Given the description of an element on the screen output the (x, y) to click on. 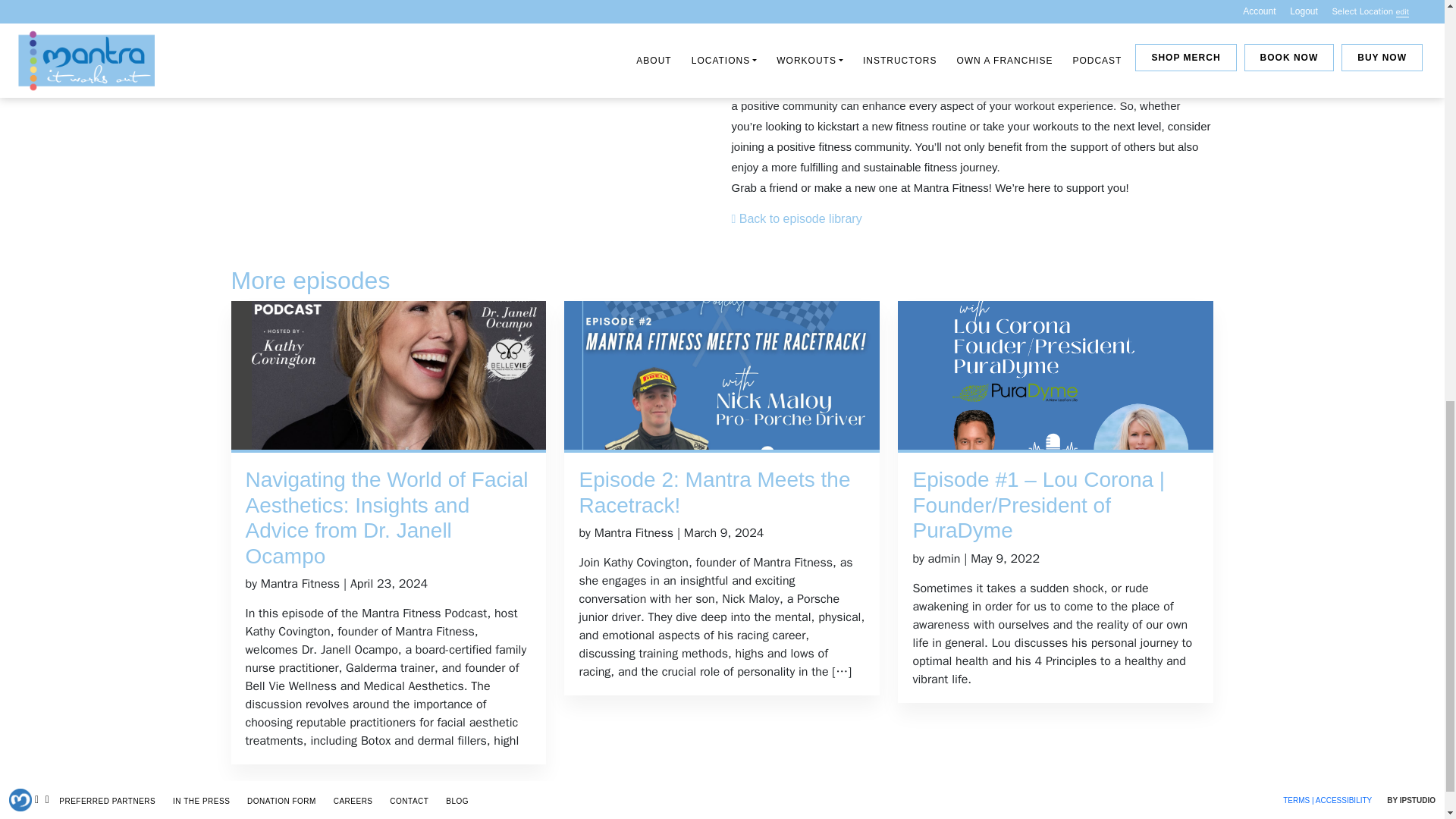
Back to episode library (795, 218)
Episode 2: Mantra Meets the Racetrack! (721, 491)
